Given the description of an element on the screen output the (x, y) to click on. 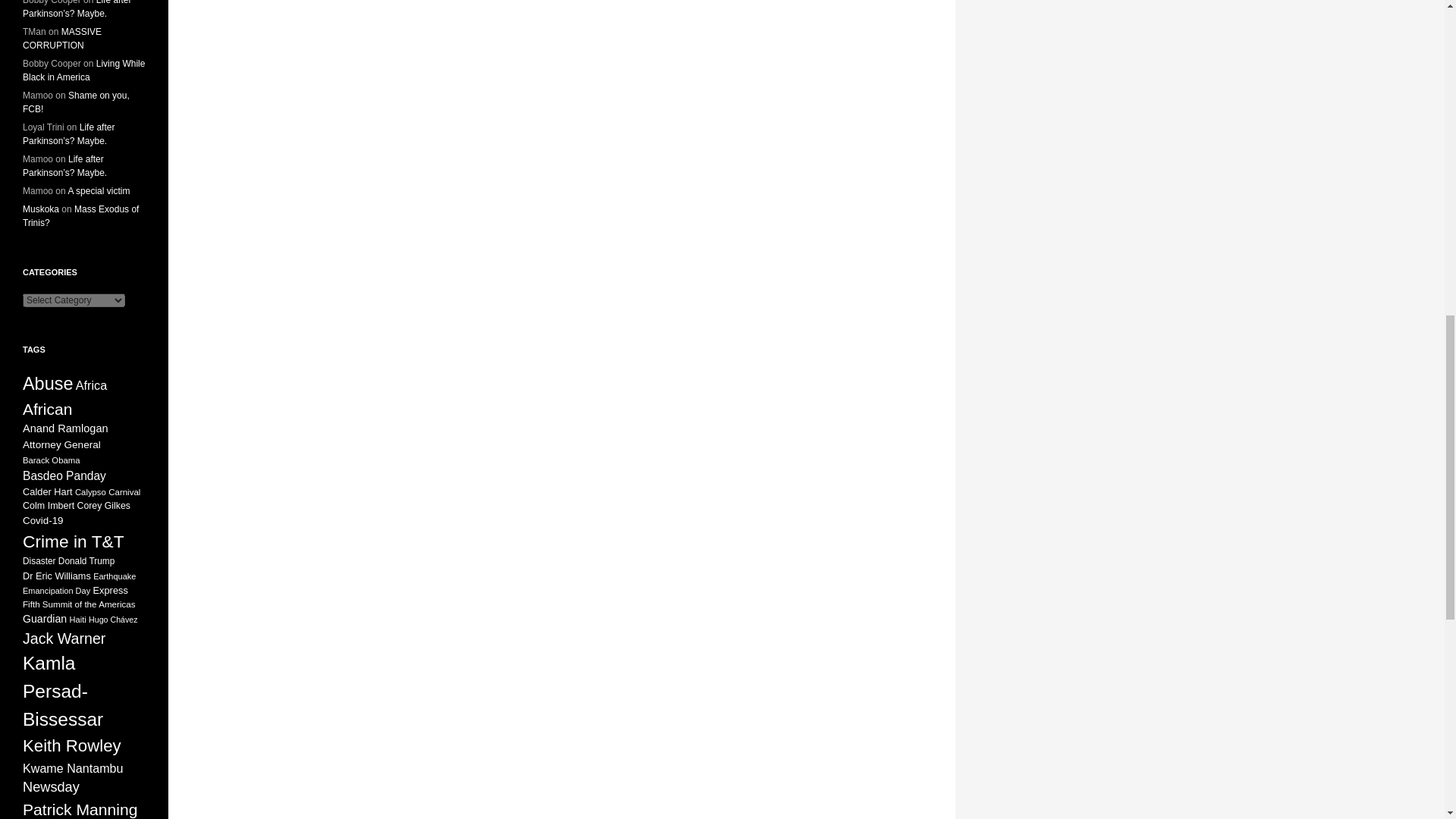
Living While Black in America (83, 70)
Shame on you, FCB! (76, 102)
MASSIVE CORRUPTION (62, 38)
